Given the description of an element on the screen output the (x, y) to click on. 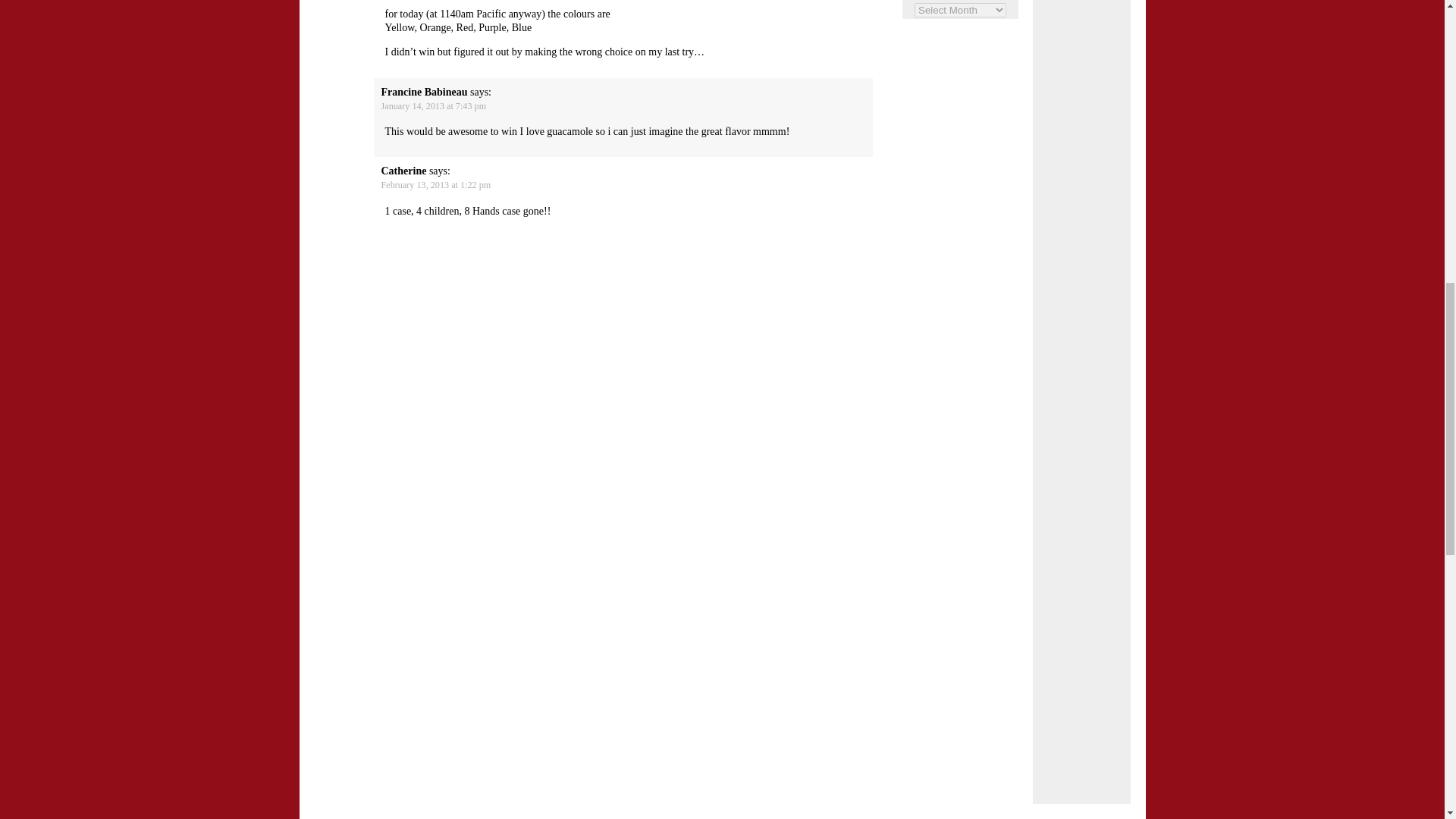
February 13, 2013 at 1:22 pm (435, 184)
January 14, 2013 at 7:43 pm (433, 105)
Catherine (403, 170)
